Given the description of an element on the screen output the (x, y) to click on. 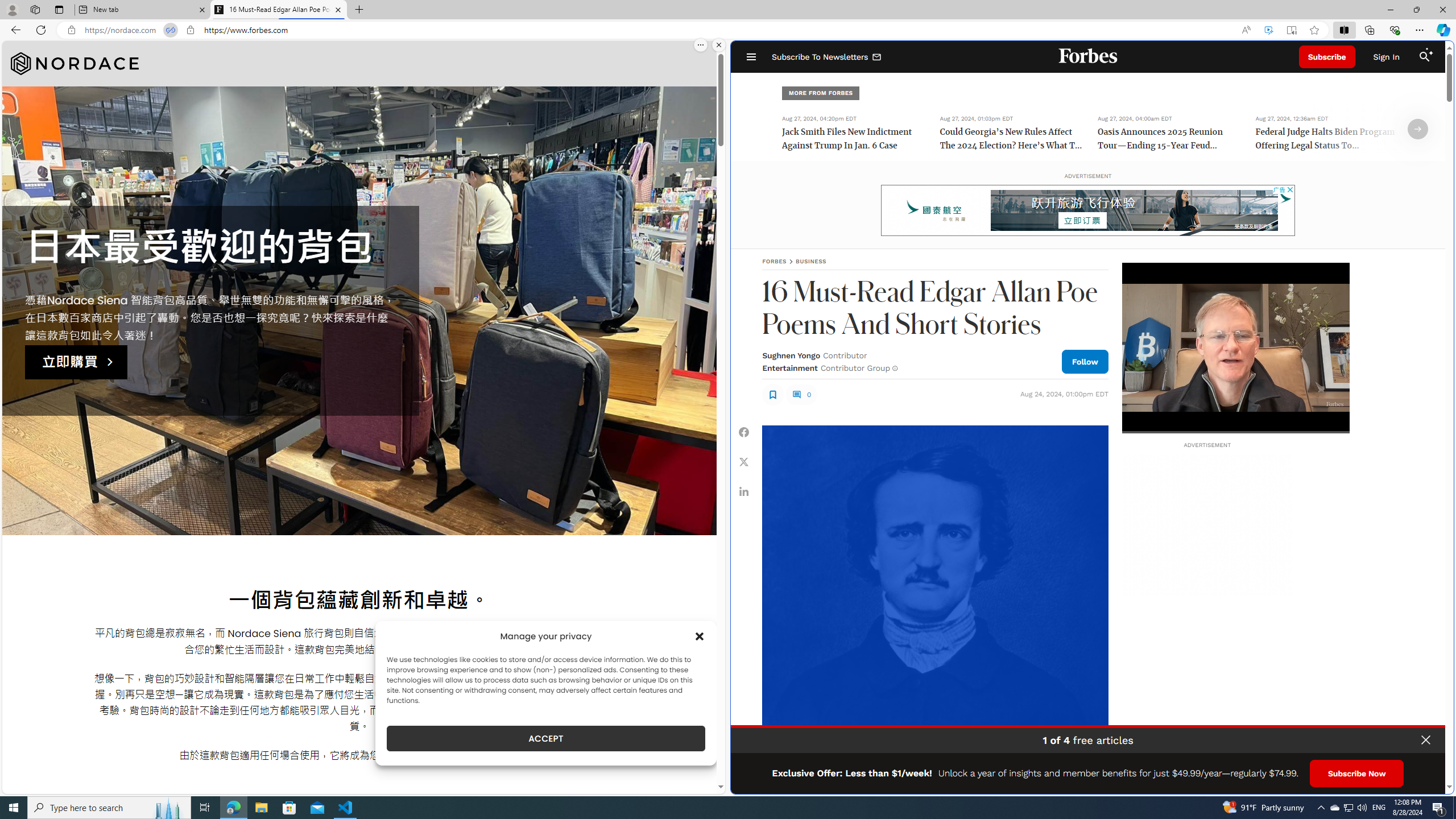
Close split screen. (719, 45)
Minimize (1390, 9)
Class: fs-icon fs-icon--Facebook (744, 431)
App bar (728, 29)
Add this page to favorites (Ctrl+D) (1314, 29)
Class: cmplz-close (699, 636)
Read aloud this page (Ctrl+Shift+U) (1245, 29)
Class: article-sharing__item (743, 490)
Follow Author (1084, 360)
Enter Immersive Reader (F9) (1291, 29)
Subscribe (1326, 56)
Search (1424, 56)
Class: close-button unbutton (1425, 740)
Privacy (1416, 781)
